Given the description of an element on the screen output the (x, y) to click on. 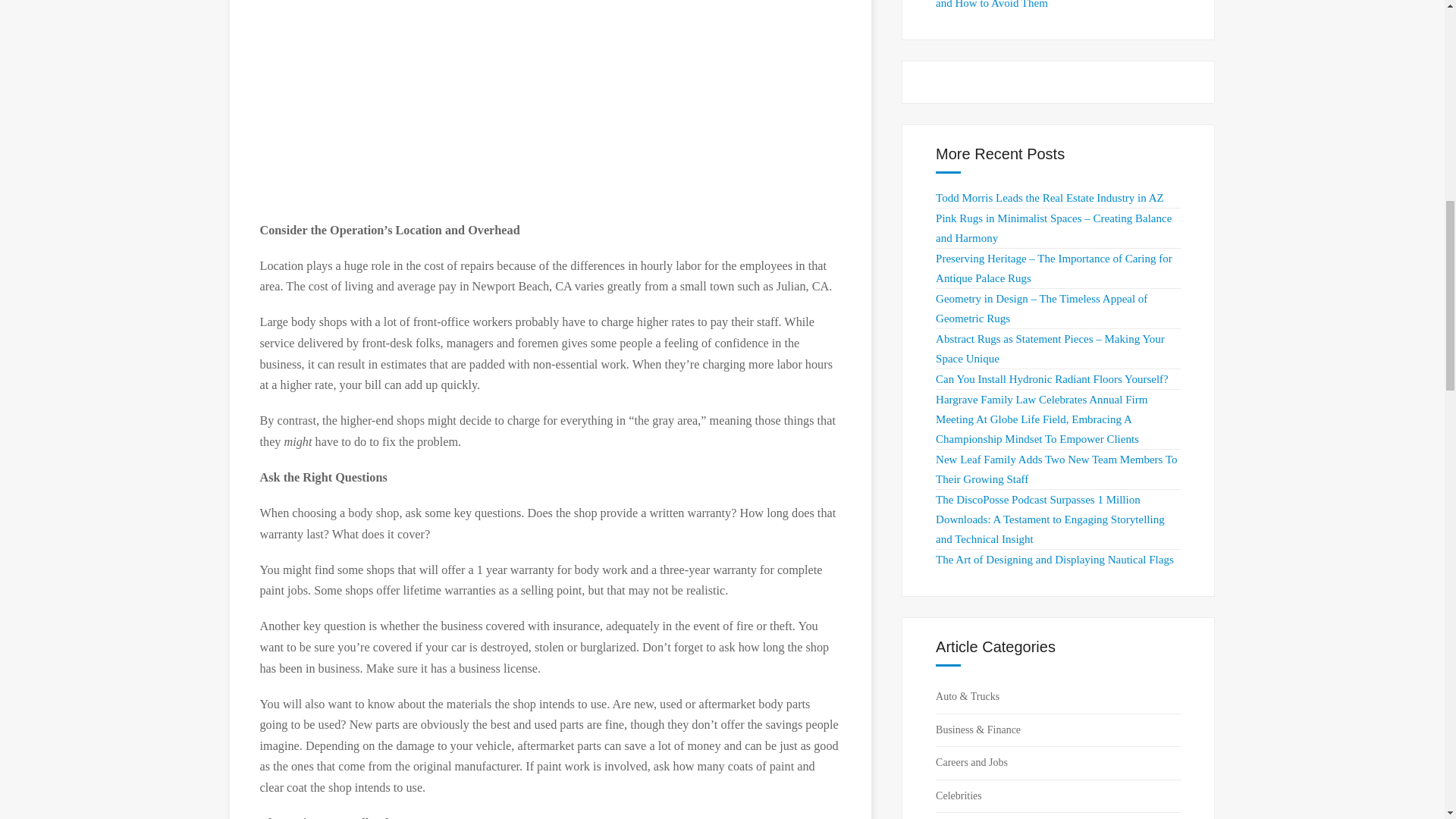
Todd Morris Leads the Real Estate Industry in AZ (1049, 197)
3rd party ad content (549, 102)
Can You Install Hydronic Radiant Floors Yourself? (1052, 378)
